Given the description of an element on the screen output the (x, y) to click on. 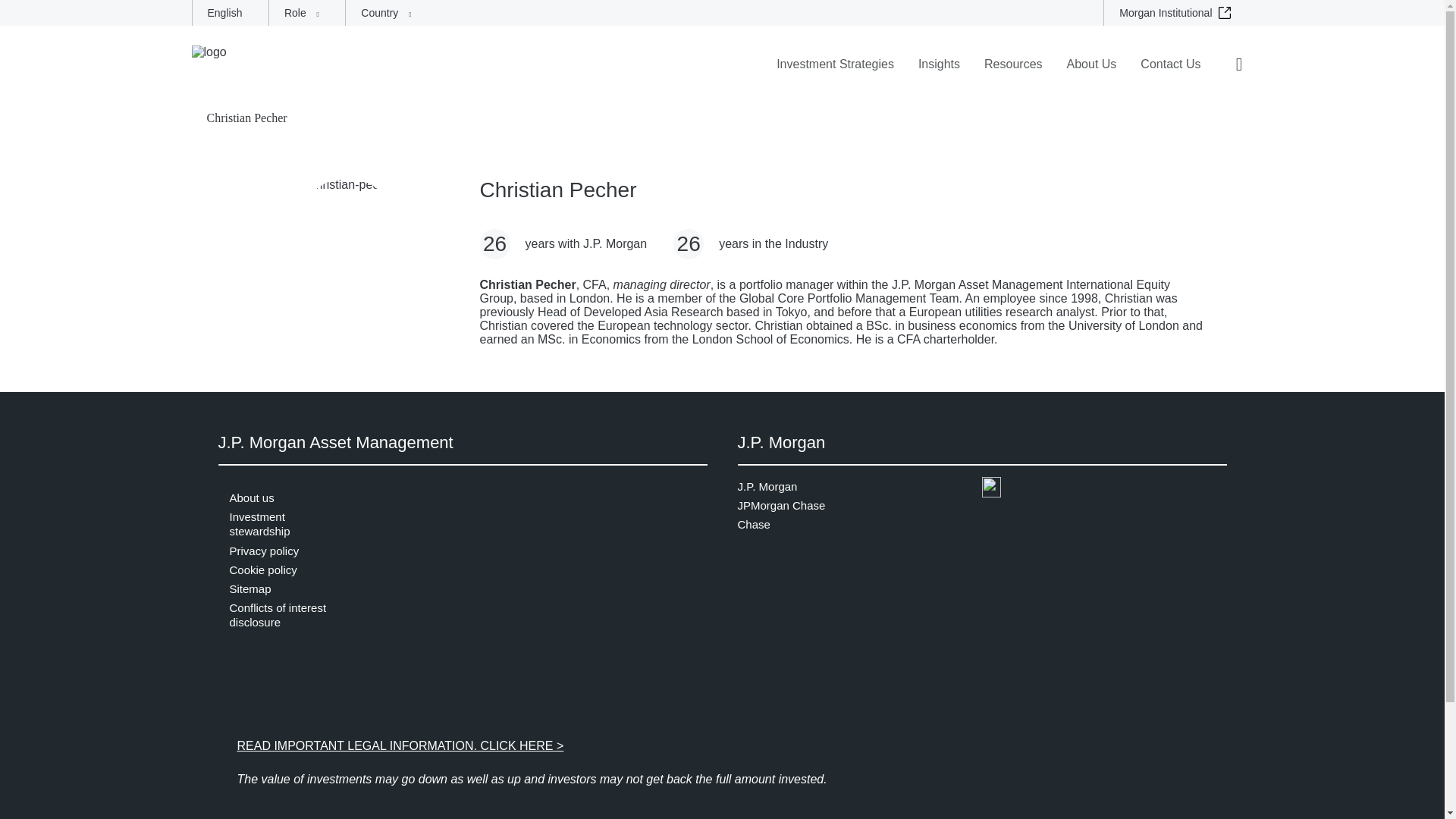
Insights (939, 74)
Investment Strategies (834, 74)
Morgan Institutional (1177, 12)
Resources (1013, 74)
